Given the description of an element on the screen output the (x, y) to click on. 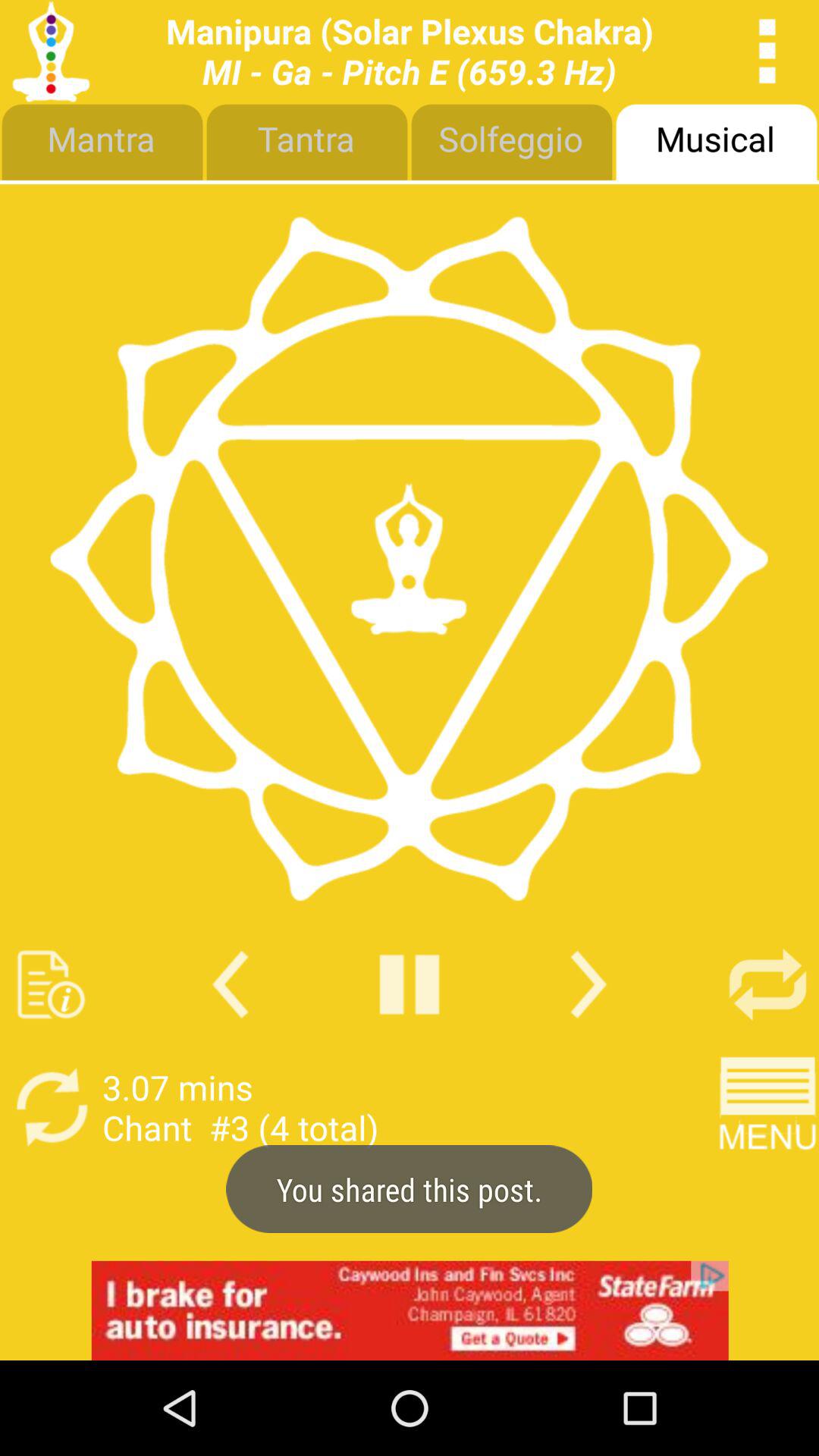
display image (408, 558)
